Given the description of an element on the screen output the (x, y) to click on. 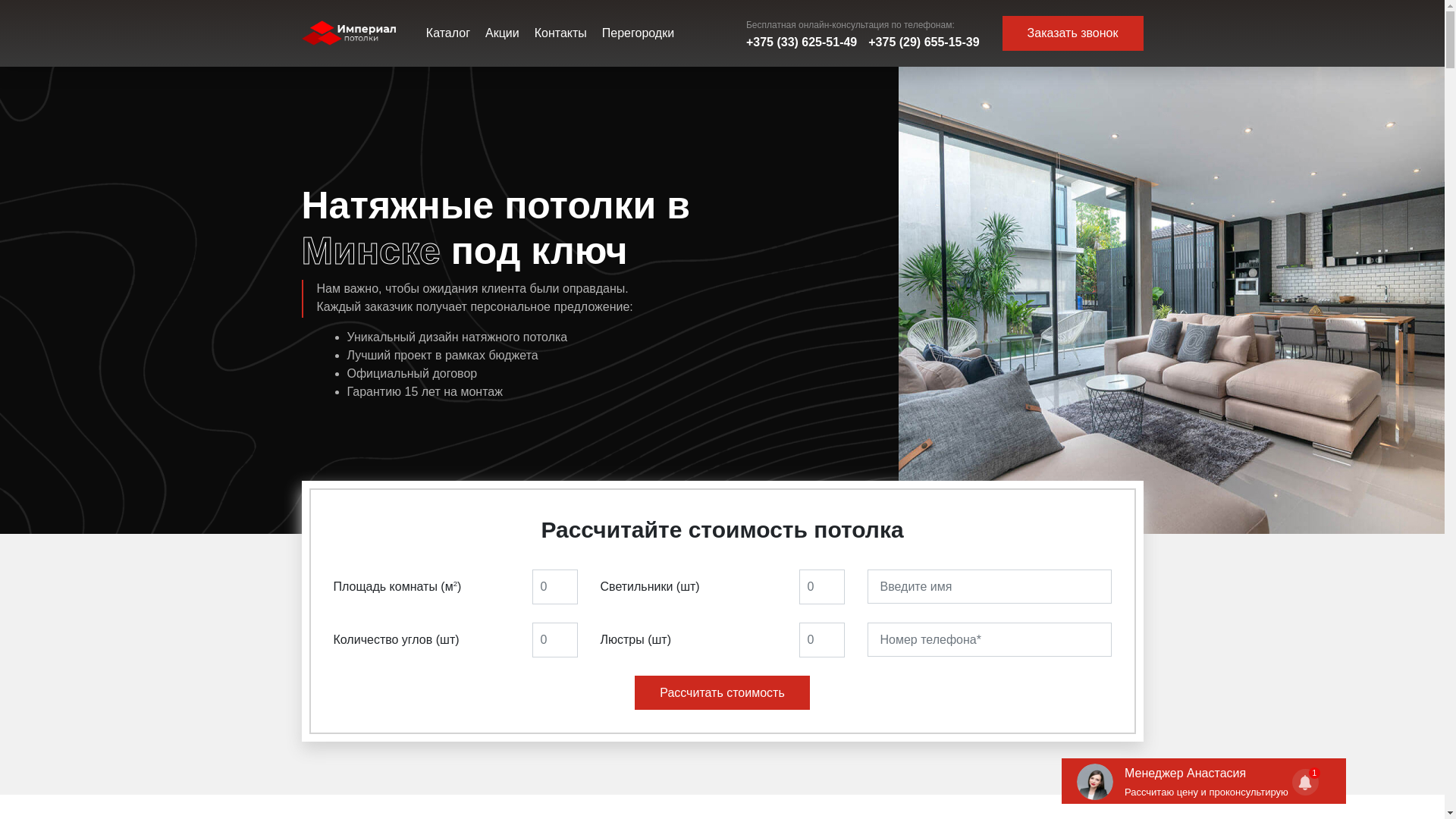
+375 (33) 625-51-49 Element type: text (801, 42)
+375 (29) 655-15-39 Element type: text (923, 42)
+375 (**) ***-**-** Element type: hover (989, 639)
